Given the description of an element on the screen output the (x, y) to click on. 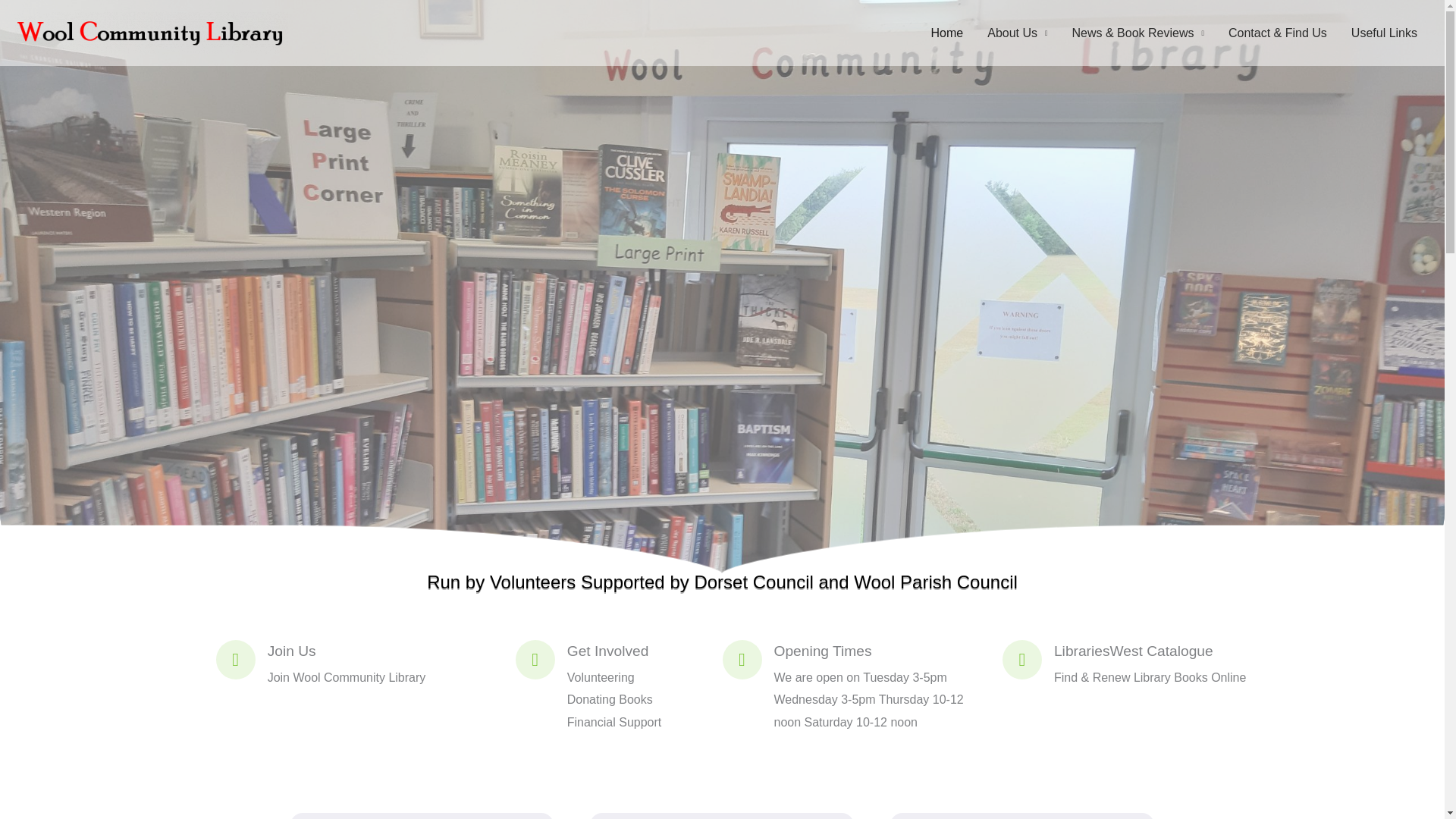
Join Us (291, 650)
Useful Links (1384, 33)
About Us (1017, 33)
LibrariesWest Catalogue (1133, 650)
Get Involved (608, 650)
Home (946, 33)
